Given the description of an element on the screen output the (x, y) to click on. 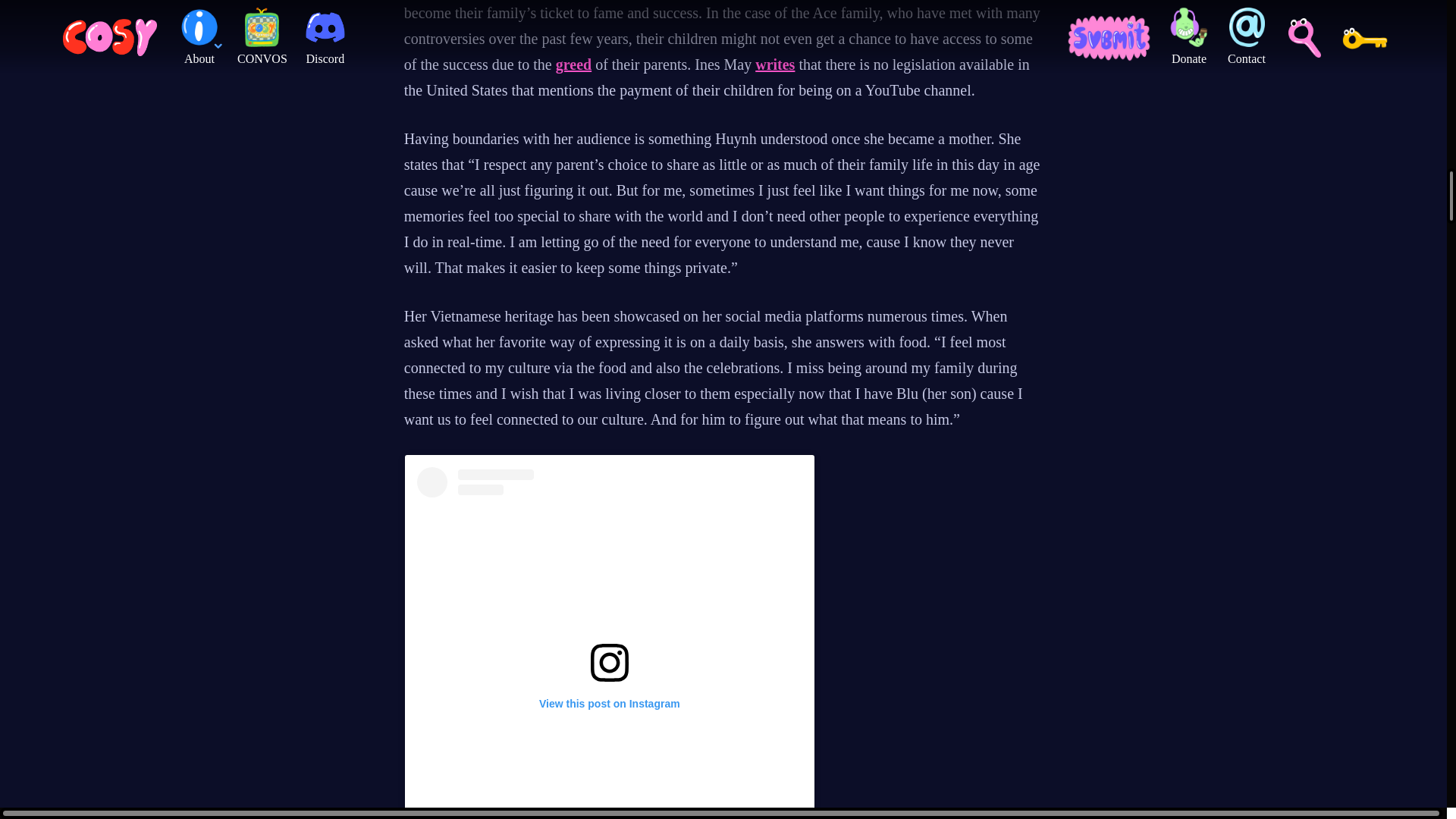
writes (774, 64)
greed (573, 64)
